Given the description of an element on the screen output the (x, y) to click on. 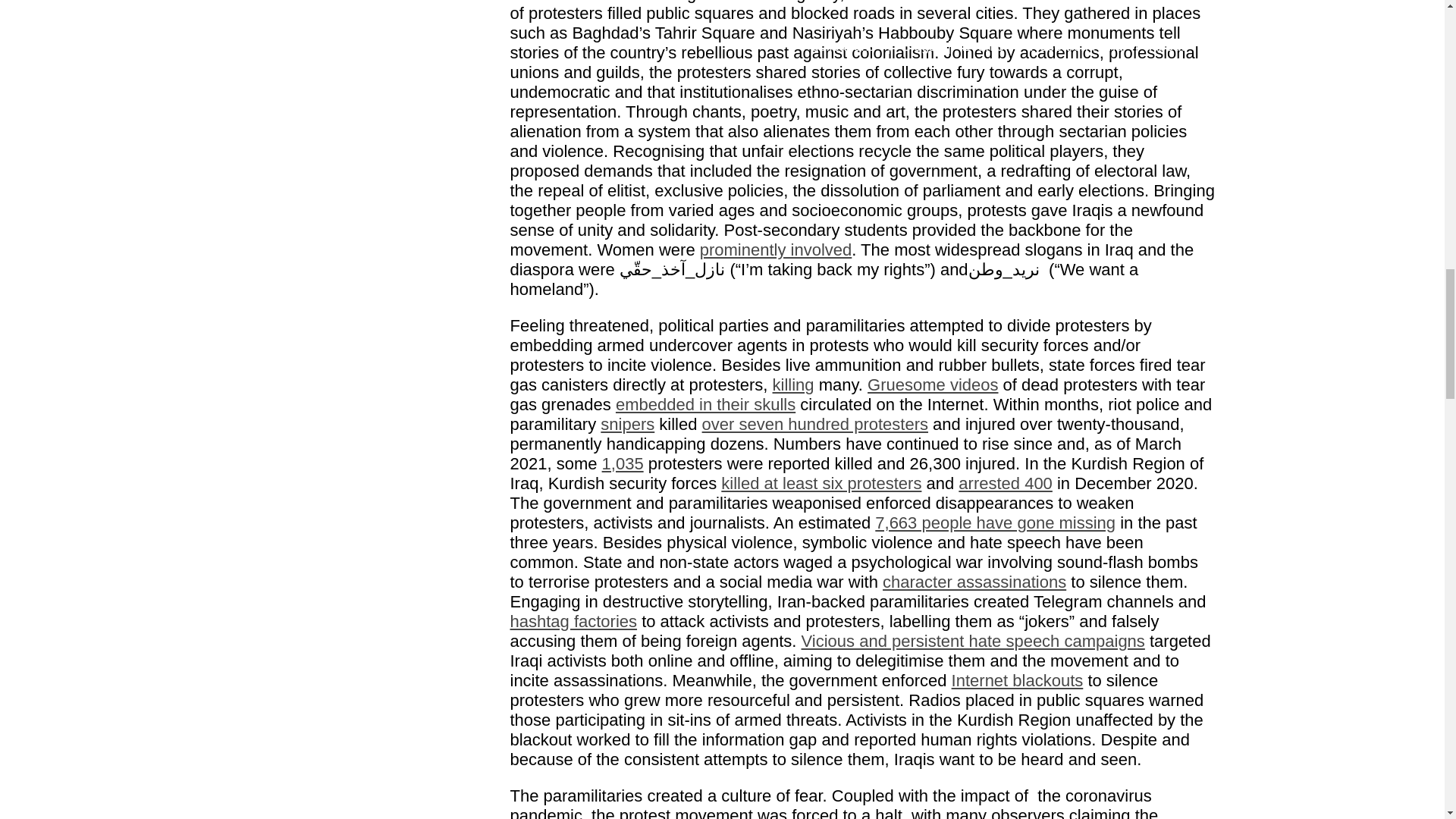
prominently involved (775, 249)
embedded in their skulls (704, 404)
snipers (626, 424)
killing (793, 384)
Gruesome videos (932, 384)
